Given the description of an element on the screen output the (x, y) to click on. 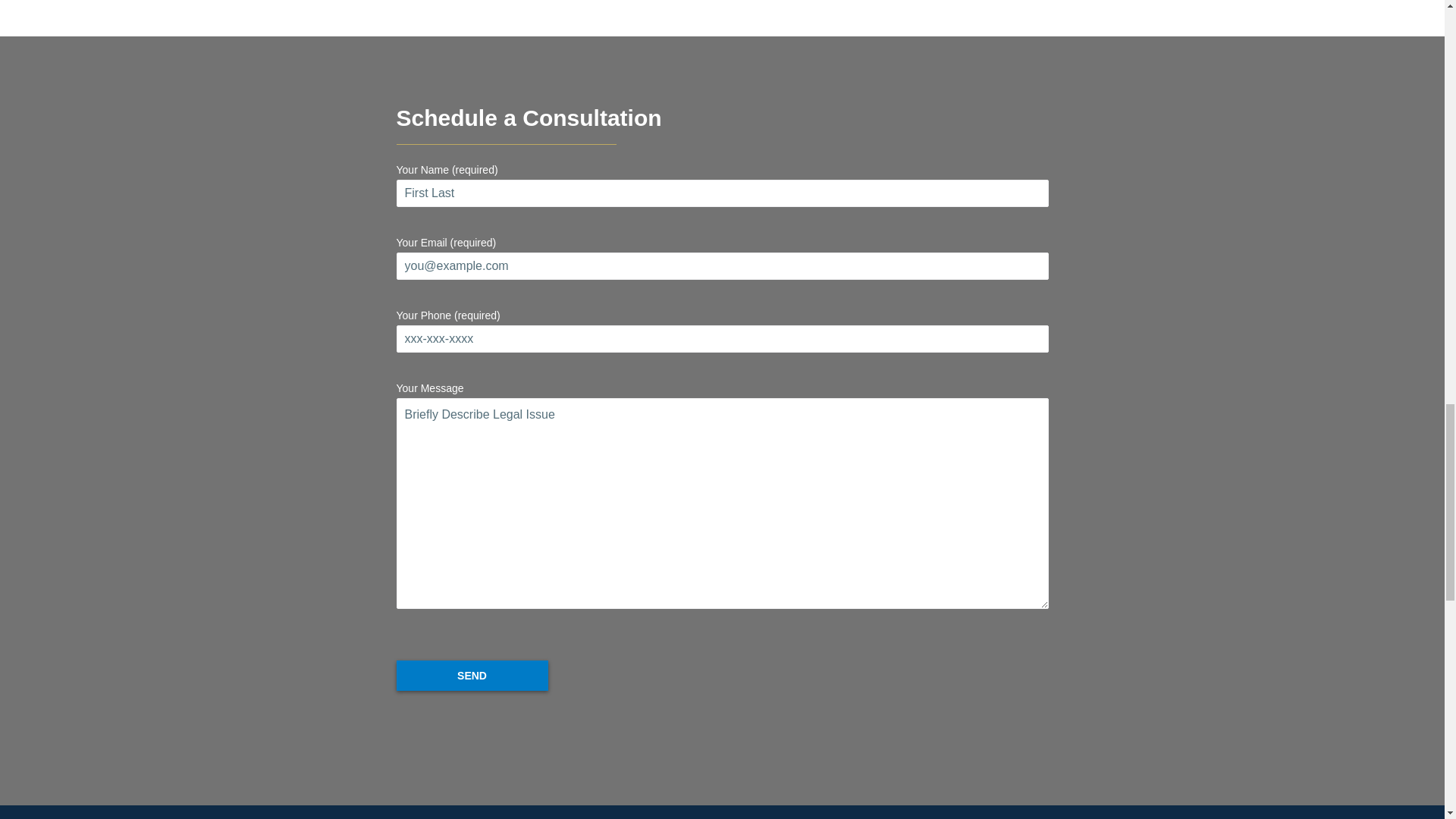
Send (471, 675)
Send (471, 675)
